Given the description of an element on the screen output the (x, y) to click on. 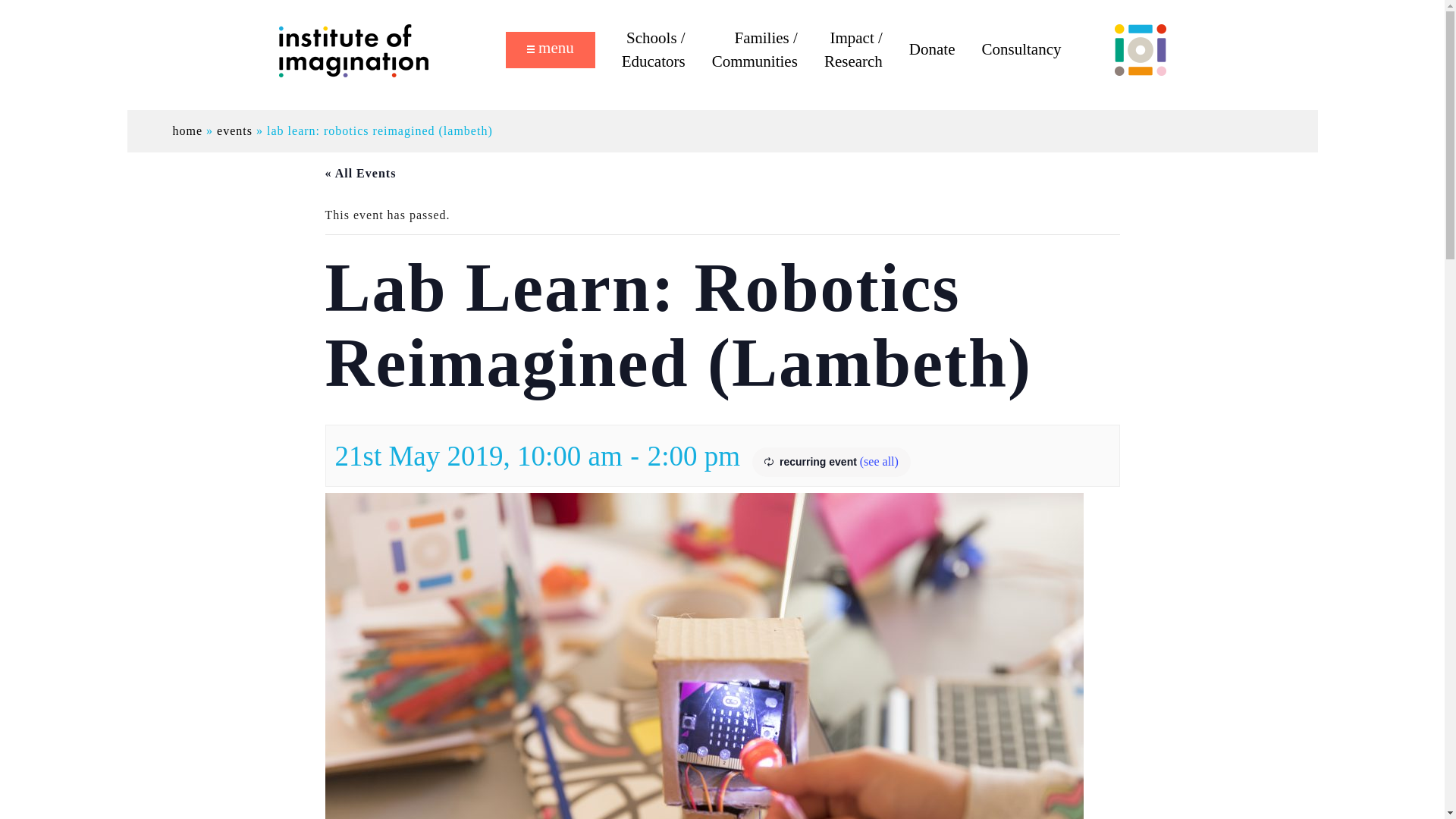
Consultancy (1021, 49)
menu (550, 49)
Donate (931, 49)
Donate (931, 49)
Consultancy (1021, 49)
